Given the description of an element on the screen output the (x, y) to click on. 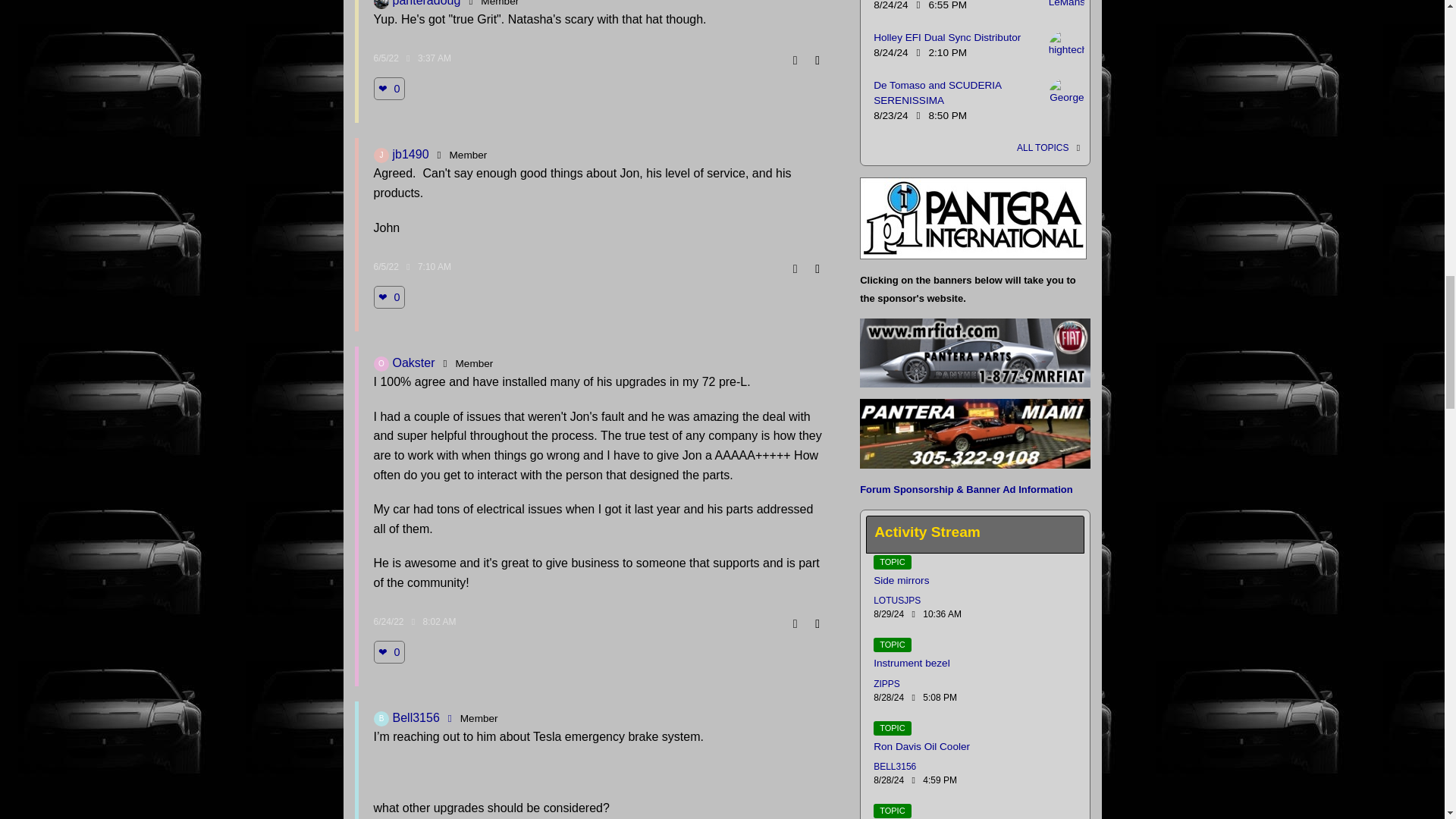
panteradoug (380, 4)
J (380, 155)
O (380, 363)
jb1490 (380, 155)
B (380, 718)
